Given the description of an element on the screen output the (x, y) to click on. 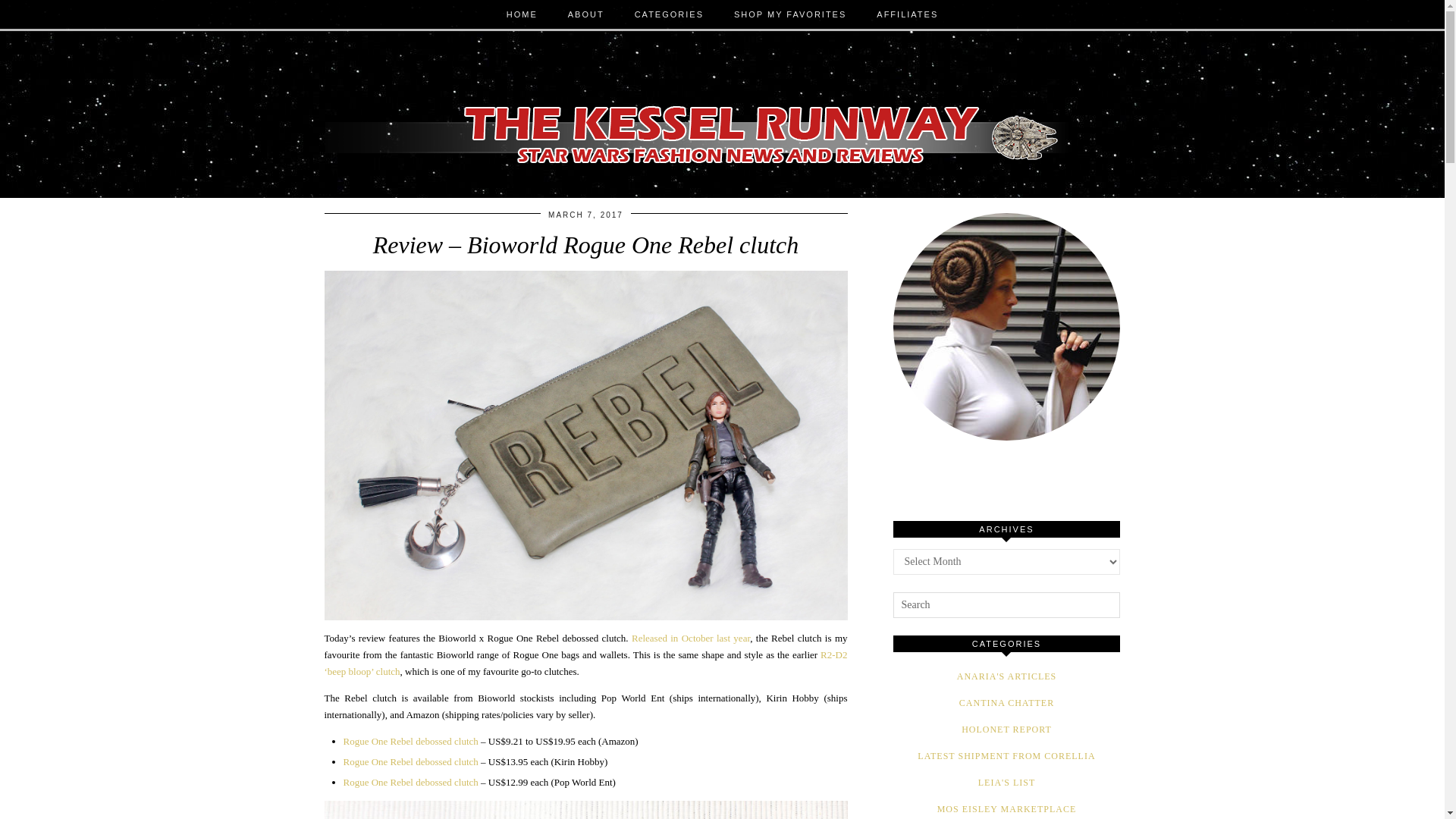
CATEGORIES (669, 14)
AFFILIATES (907, 14)
Rogue One Rebel debossed clutch (409, 781)
Released in October last year (690, 637)
Rogue One Rebel debossed clutch (409, 740)
ABOUT (586, 14)
SHOP MY FAVORITES (790, 14)
HOME (522, 14)
Rogue One Rebel debossed clutch (409, 761)
The Kessel Runway (722, 115)
Bioworld x Star Wars Rogue One Rebel debossed clutch (585, 809)
